Given the description of an element on the screen output the (x, y) to click on. 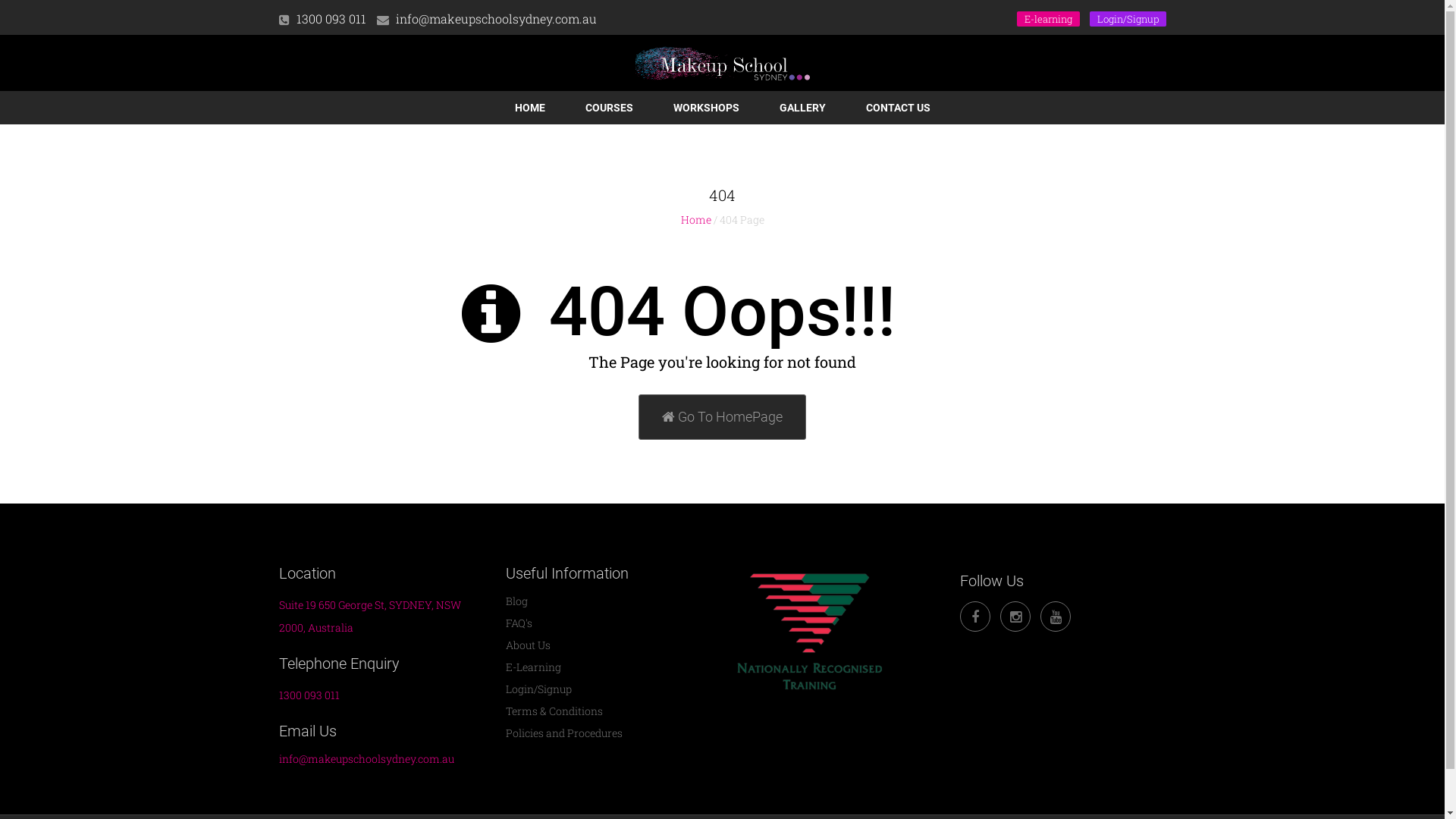
E-learning Element type: text (1047, 18)
Makeup School Sydney Element type: hover (722, 63)
Go To HomePage Element type: text (722, 416)
FAQ's Element type: text (518, 622)
Policies and Procedures Element type: text (563, 732)
Login/Signup Element type: text (1126, 18)
Makeup School Sydney Element type: hover (722, 76)
Home Element type: text (695, 219)
Login/Signup Element type: text (538, 688)
COURSES Element type: text (609, 107)
Blog Element type: text (516, 600)
About Us Element type: text (527, 644)
Terms & Conditions Element type: text (553, 710)
Suite 19 650 George St, SYDNEY, NSW 2000, Australia Element type: text (370, 615)
WORKSHOPS Element type: text (706, 107)
CONTACT US Element type: text (898, 107)
1300 093 011 Element type: text (330, 18)
E-Learning Element type: text (533, 666)
info@makeupschoolsydney.com.au Element type: text (495, 18)
GALLERY Element type: text (802, 107)
1300 093 011 Element type: text (309, 694)
info@makeupschoolsydney.com.au Element type: text (366, 758)
HOME Element type: text (529, 107)
